Given the description of an element on the screen output the (x, y) to click on. 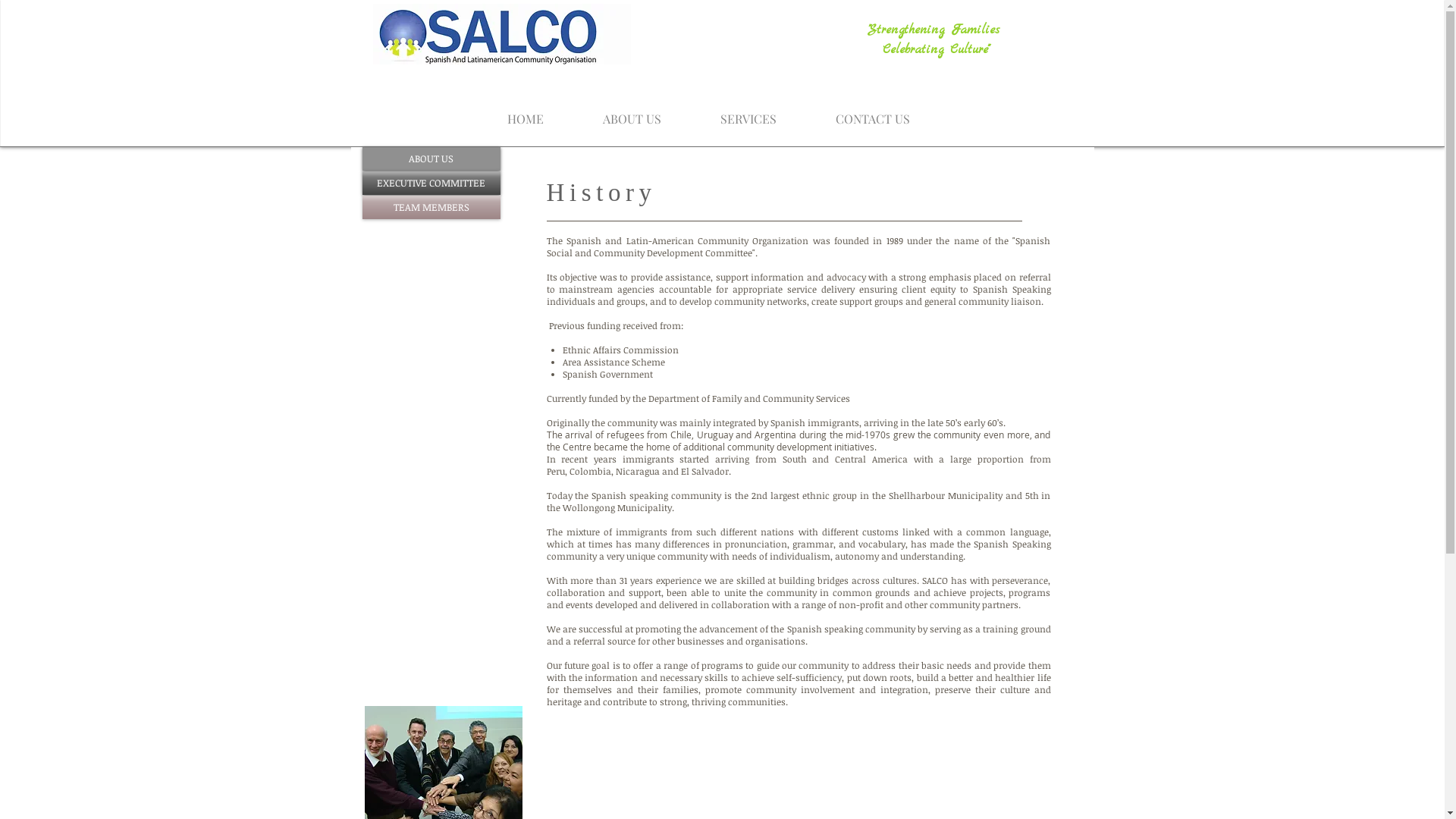
EXECUTIVE COMMITTEE Element type: text (431, 182)
ABOUT US Element type: text (631, 112)
SERVICES Element type: text (747, 112)
ABOUT US Element type: text (431, 158)
logo.JPG Element type: hover (501, 33)
CONTACT US Element type: text (871, 112)
HOME Element type: text (525, 112)
